Given the description of an element on the screen output the (x, y) to click on. 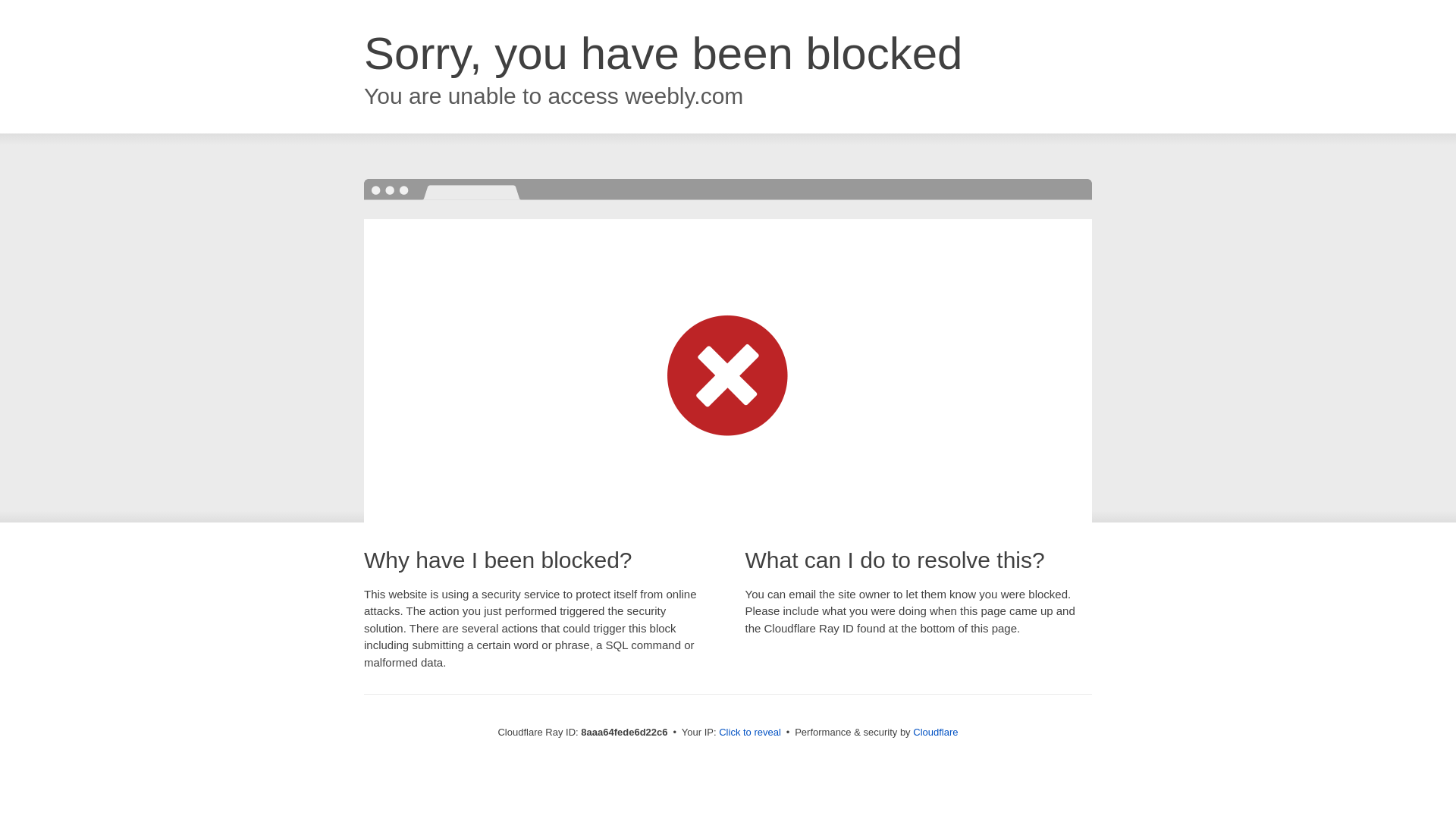
Cloudflare (935, 731)
Click to reveal (749, 732)
